Given the description of an element on the screen output the (x, y) to click on. 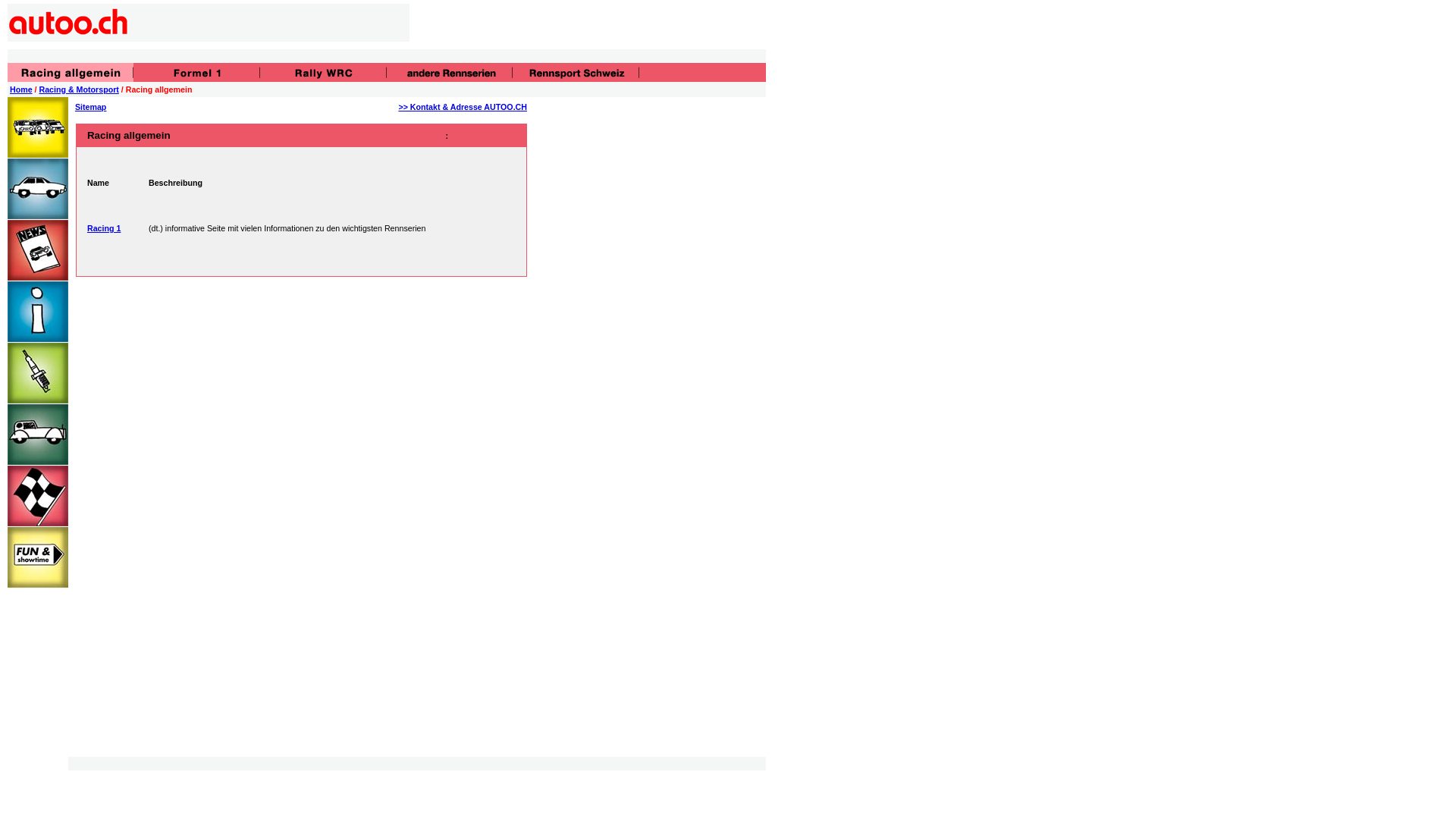
>> Kontakt & Adresse AUTOO.CH Element type: text (462, 105)
Racing & Motorsport Element type: text (78, 89)
Spiele, Bilder, TV-Spots, spezielle Events.  Element type: hover (37, 557)
Allgemeines zum Automobil_Rennsport Element type: hover (70, 71)
Racing 1 Element type: text (103, 227)
Sitemap Element type: text (90, 105)
wichtige Links zum Motor- und Rennsport in der Schweiz Element type: hover (576, 71)
Home Element type: text (20, 89)
